Given the description of an element on the screen output the (x, y) to click on. 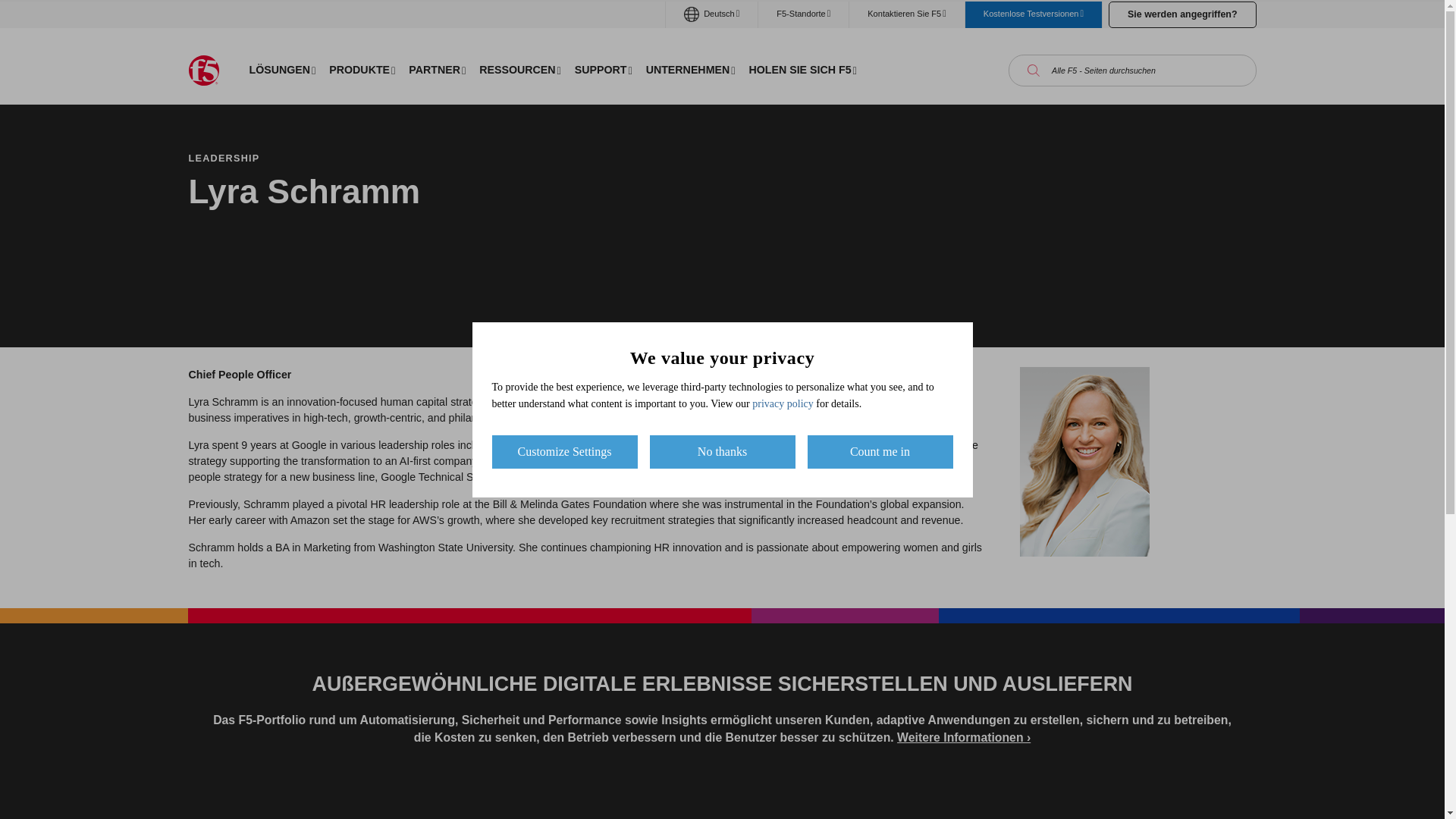
PARTNER (436, 69)
RESSOURCEN (519, 69)
HOLEN SIE SICH F5 (802, 69)
Deutsch (711, 13)
UNTERNEHMEN (690, 69)
Sie werden angegriffen? (1181, 14)
Kostenlose Testversionen (1033, 13)
F5-Standorte (803, 13)
PRODUKTE (361, 69)
F5 (202, 70)
